Given the description of an element on the screen output the (x, y) to click on. 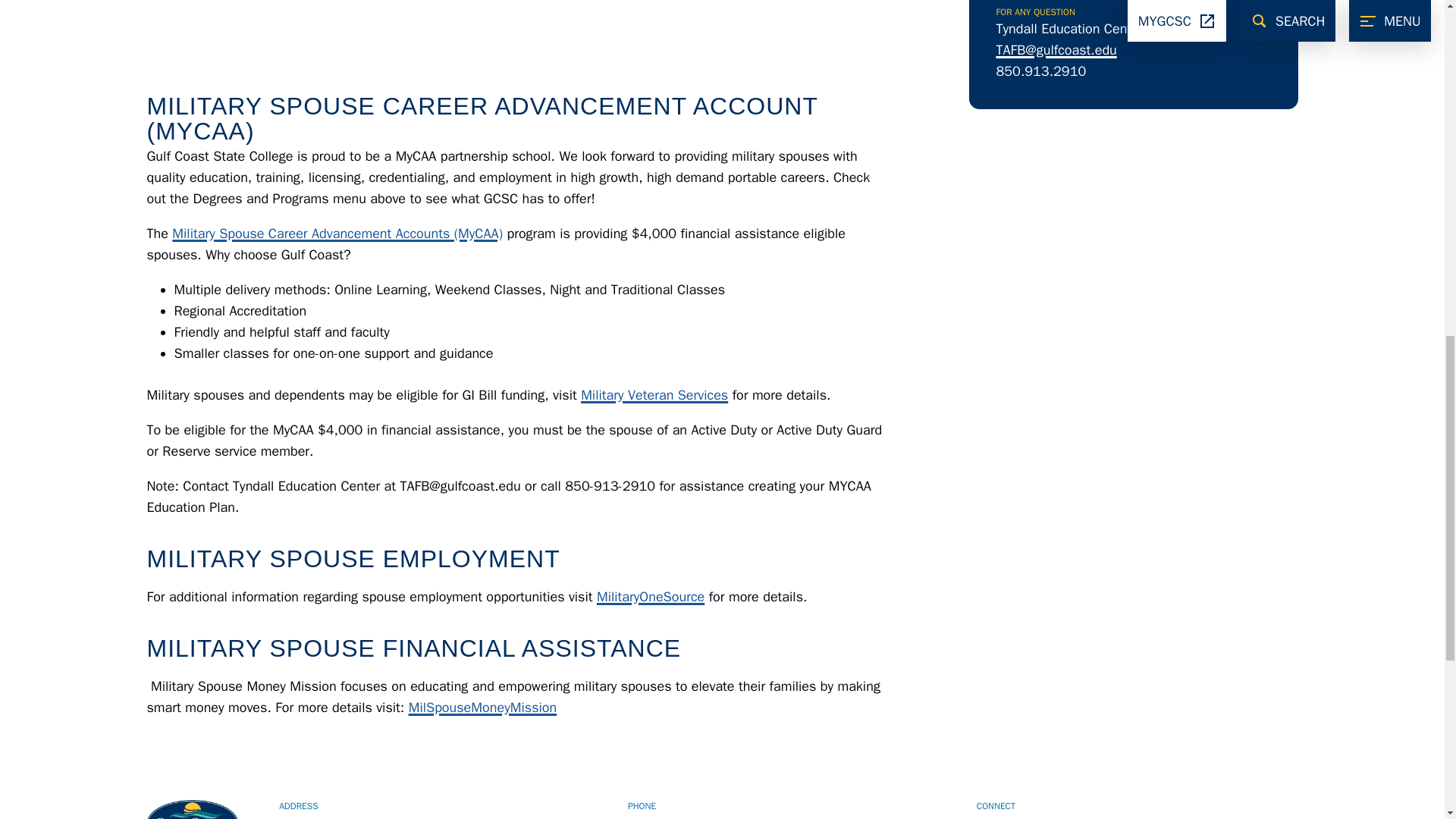
MilitaryOneSource (650, 596)
MilSpouseMoneyMission (483, 707)
Military Veteran Services (654, 394)
Go To Gulf Coast State College Homepage (192, 809)
Military Spouse (307, 40)
